Given the description of an element on the screen output the (x, y) to click on. 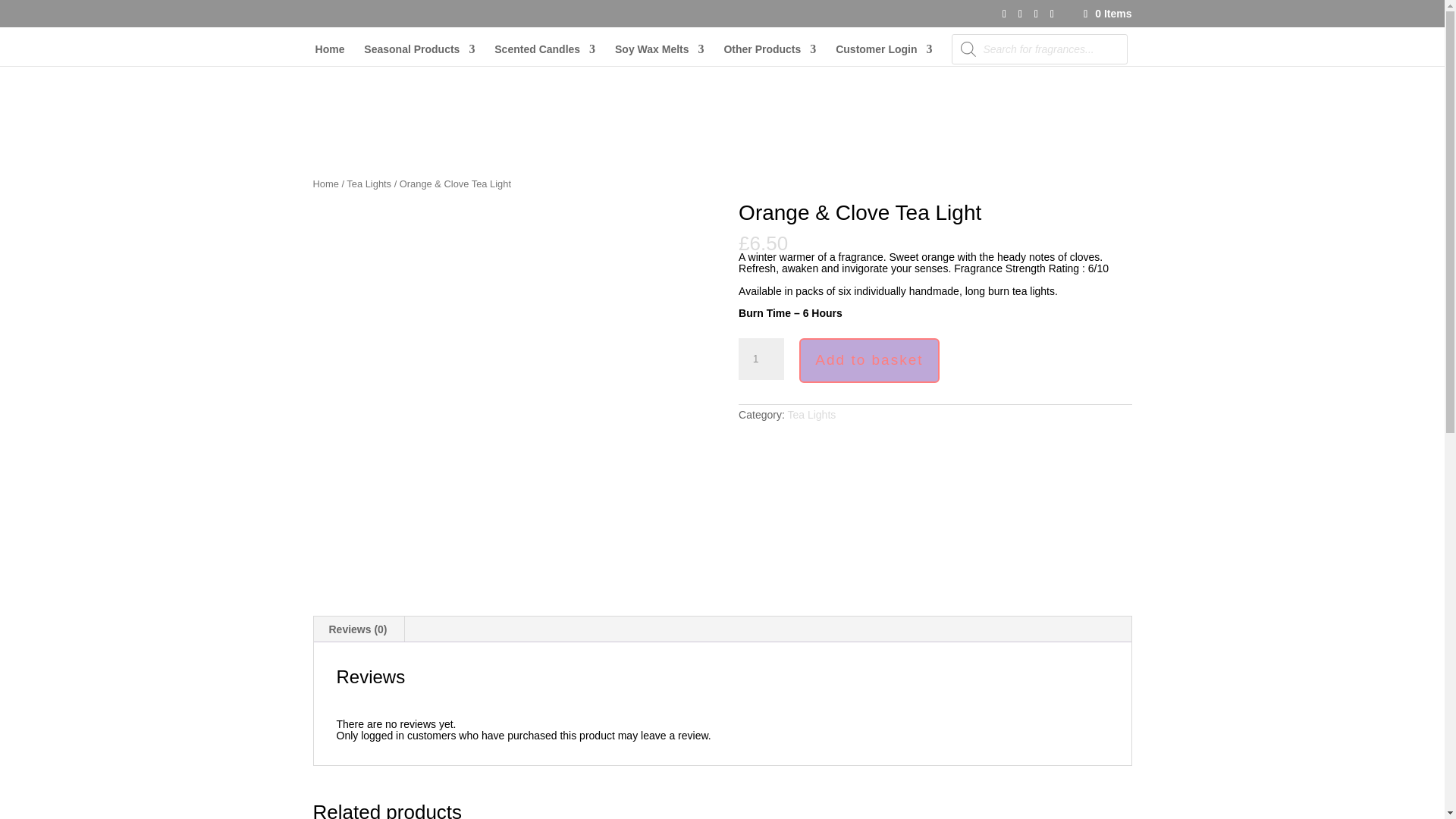
Tea Lights (811, 414)
Home (330, 55)
Soy Wax Melts (659, 55)
Add to basket (869, 361)
Customer Login (883, 55)
Scented Candles (545, 55)
Home (325, 183)
Other Products (769, 55)
1 (761, 359)
0 Items (1105, 13)
